Given the description of an element on the screen output the (x, y) to click on. 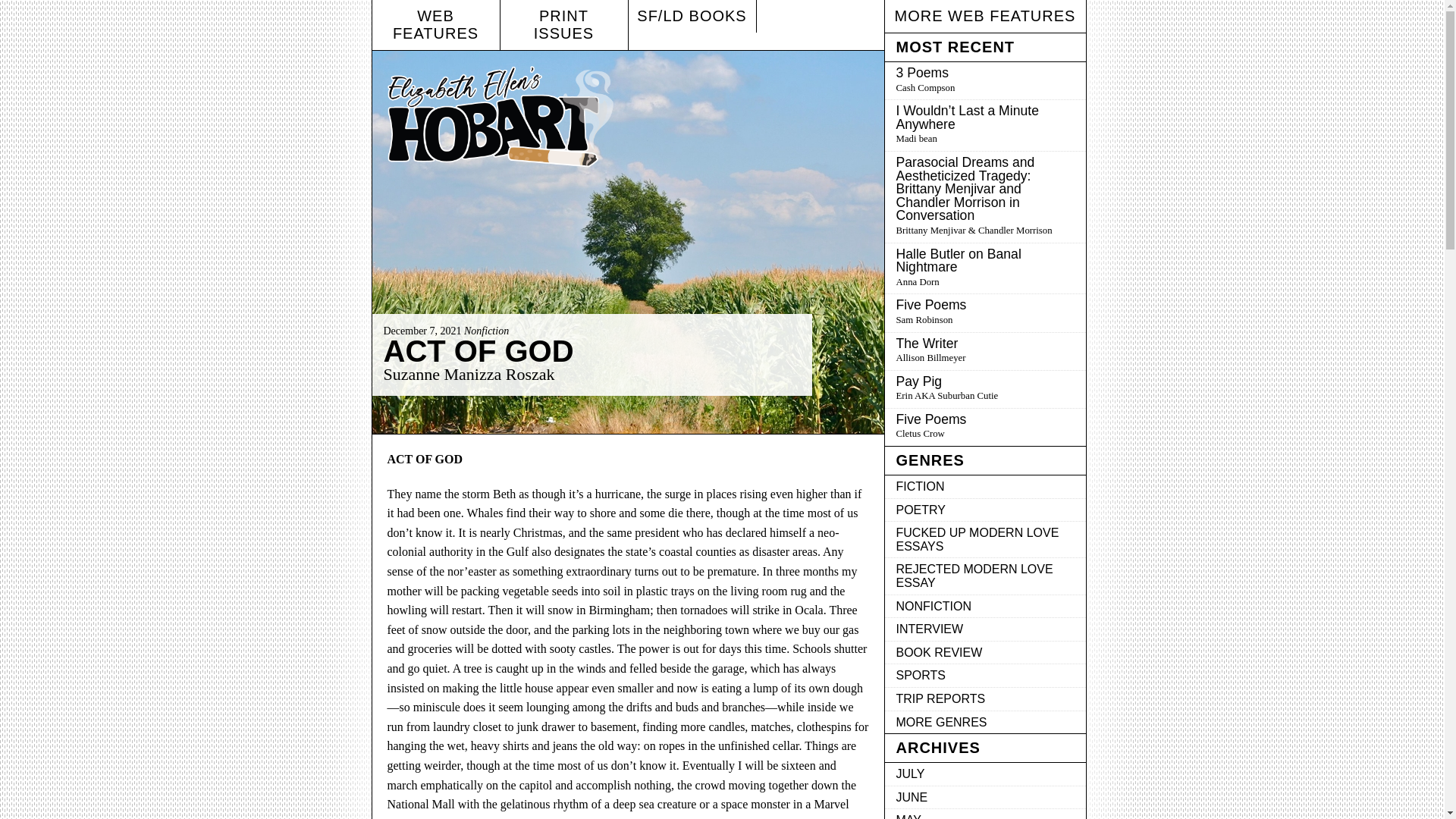
JULY (983, 774)
POETRY (983, 510)
INTERVIEW (983, 629)
BOOK REVIEW (983, 653)
MAY (983, 814)
JUNE (983, 797)
Nonfiction (486, 330)
REJECTED MODERN LOVE ESSAY (983, 575)
SPORTS (983, 389)
ACT OF GOD (983, 675)
PRINT ISSUES (478, 350)
